Given the description of an element on the screen output the (x, y) to click on. 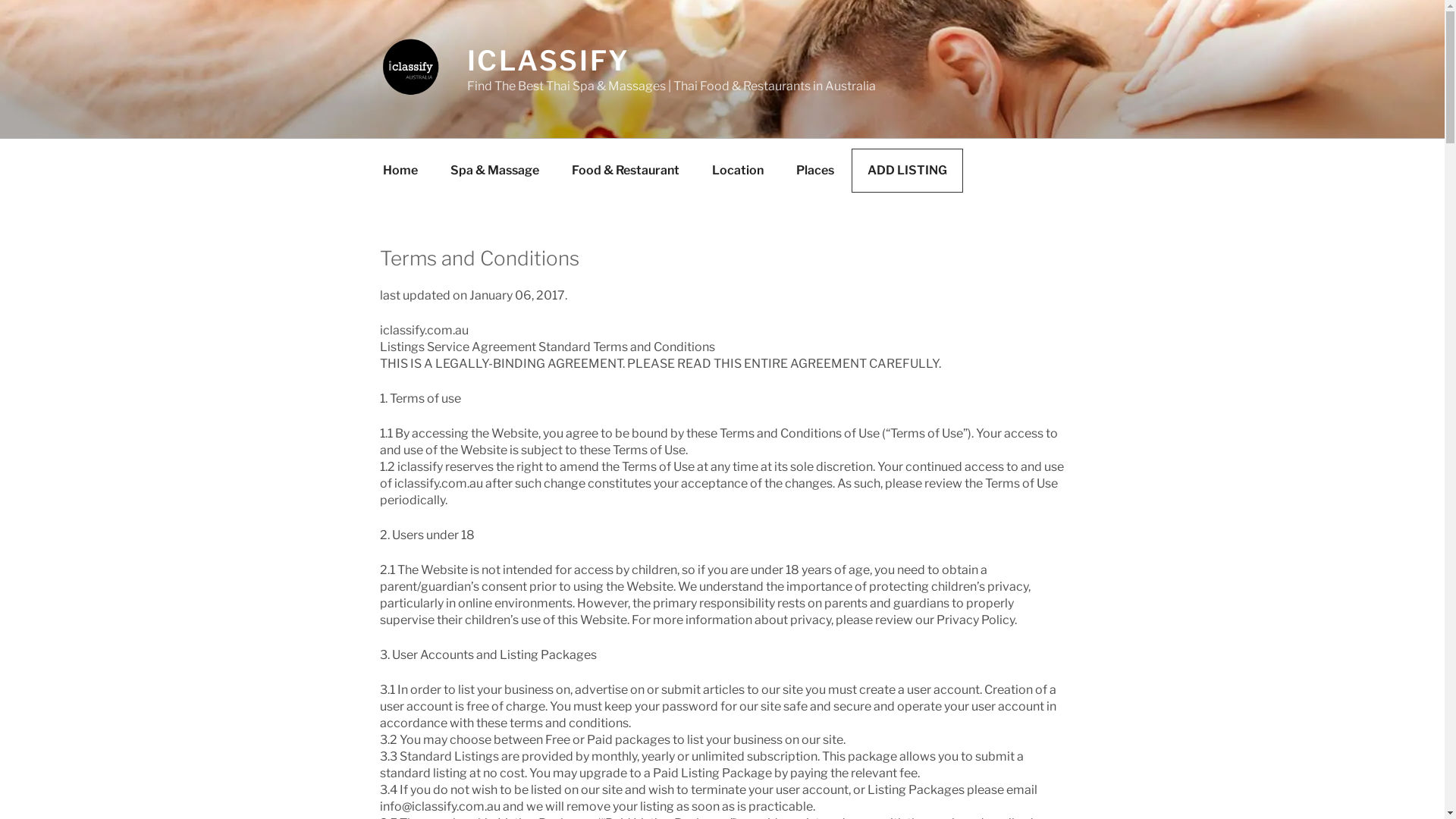
Places Element type: text (815, 170)
Spa & Massage Element type: text (494, 170)
Home Element type: text (399, 170)
Food & Restaurant Element type: text (625, 170)
ICLASSIFY Element type: text (548, 60)
ADD LISTING Element type: text (906, 170)
Location Element type: text (737, 170)
